Given the description of an element on the screen output the (x, y) to click on. 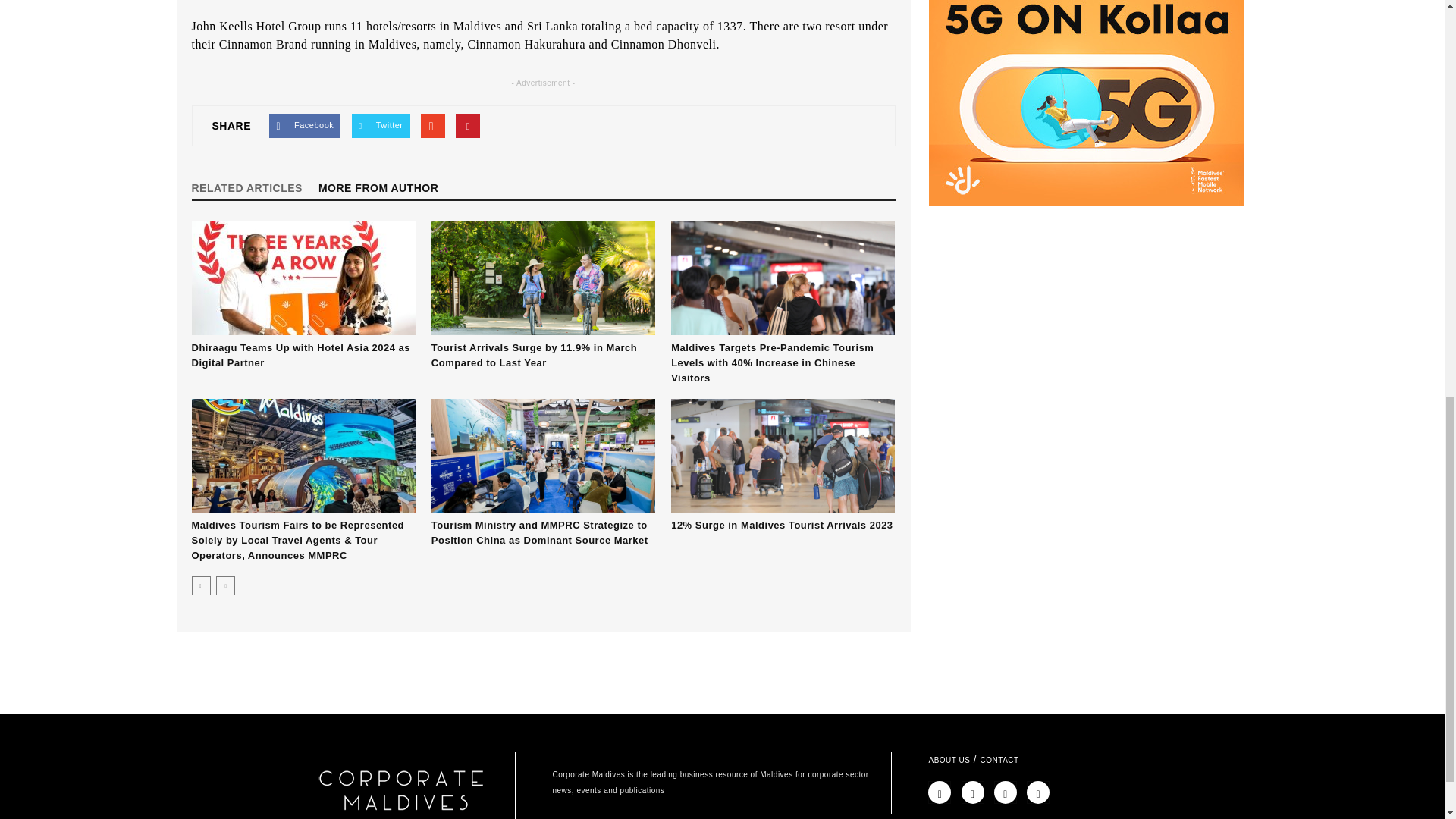
Facebook (304, 125)
Dhiraagu Teams Up with Hotel Asia 2024 as Digital Partner (300, 355)
Twitter (381, 125)
Dhiraagu Teams Up with Hotel Asia 2024 as Digital Partner (302, 277)
